Given the description of an element on the screen output the (x, y) to click on. 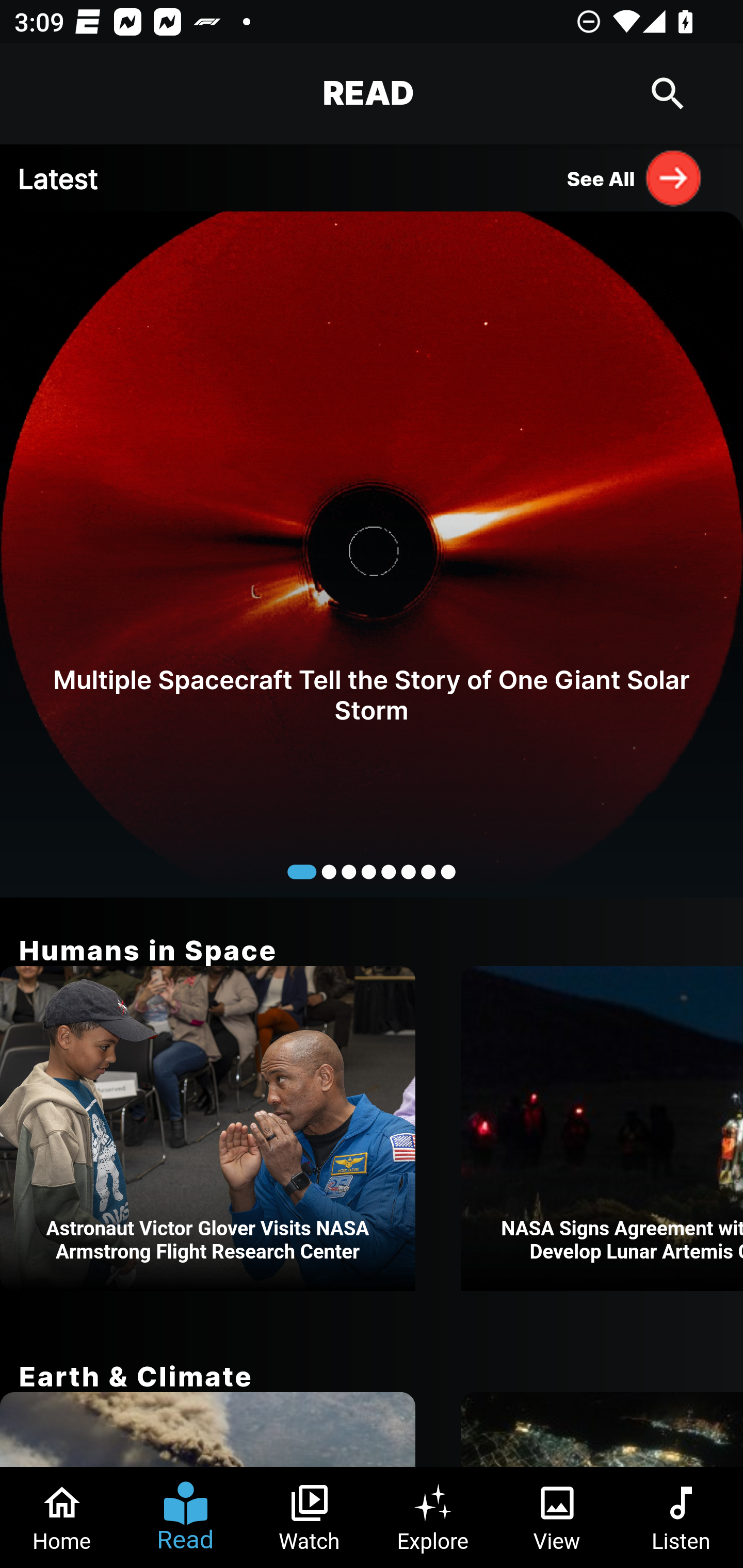
See All (634, 177)
Home
Tab 1 of 6 (62, 1517)
Read
Tab 2 of 6 (185, 1517)
Watch
Tab 3 of 6 (309, 1517)
Explore
Tab 4 of 6 (433, 1517)
View
Tab 5 of 6 (556, 1517)
Listen
Tab 6 of 6 (680, 1517)
